Given the description of an element on the screen output the (x, y) to click on. 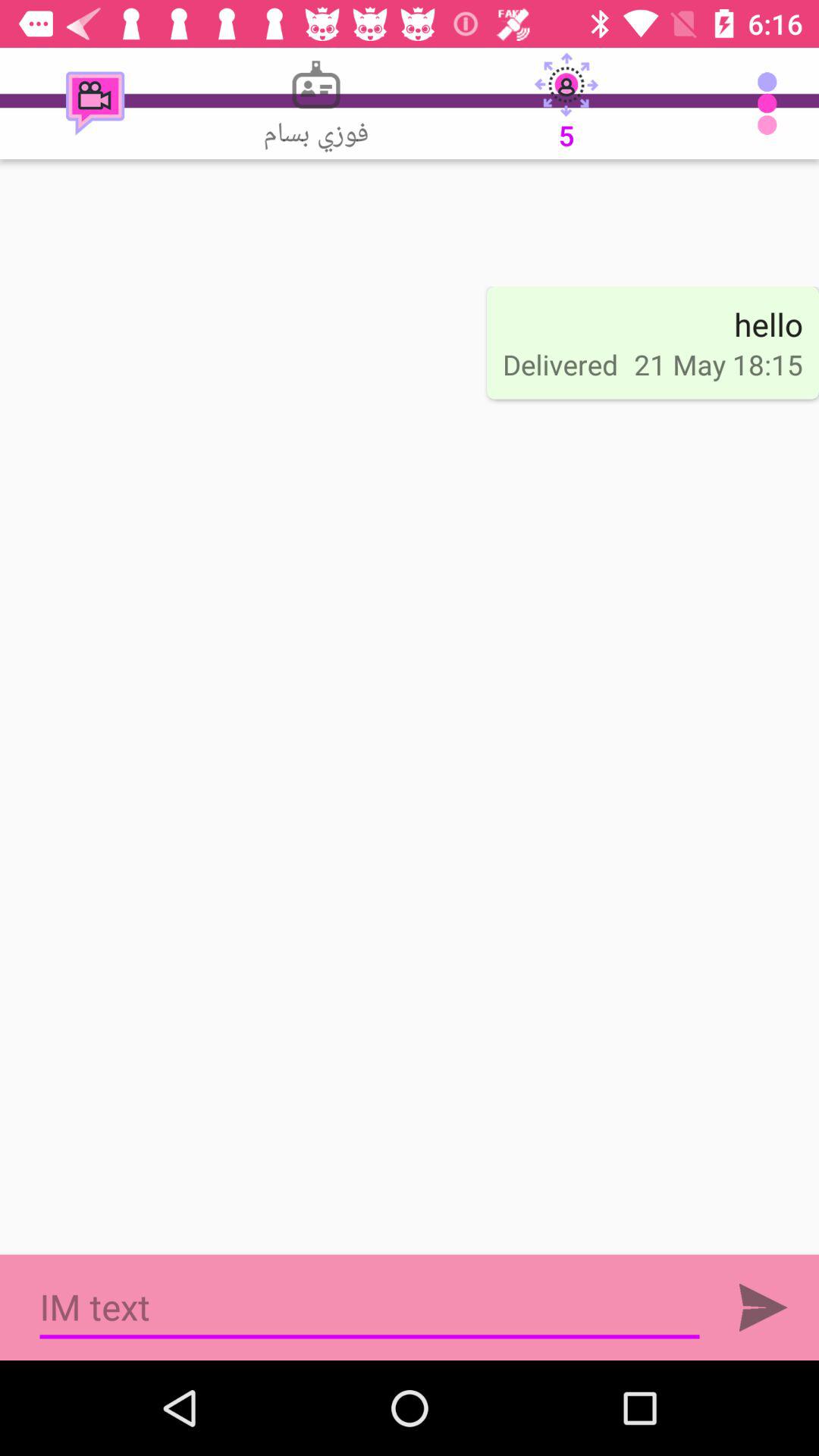
tap item above delivered item (566, 103)
